Given the description of an element on the screen output the (x, y) to click on. 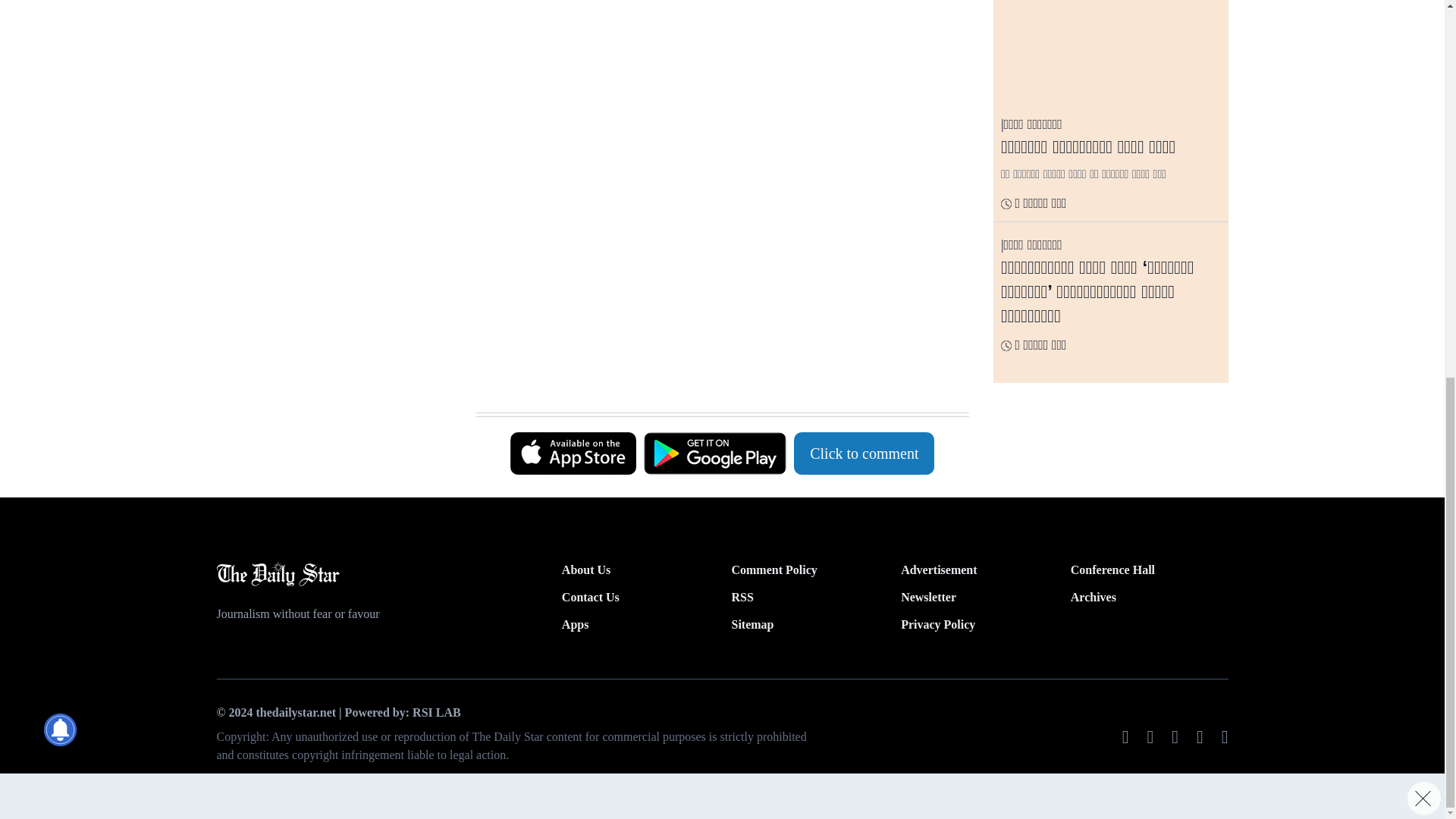
3rd party ad content (332, 57)
3rd party ad content (332, 224)
3rd party ad content (713, 234)
3rd party ad content (714, 374)
3rd party ad content (713, 62)
3rd party ad content (721, 98)
